Given the description of an element on the screen output the (x, y) to click on. 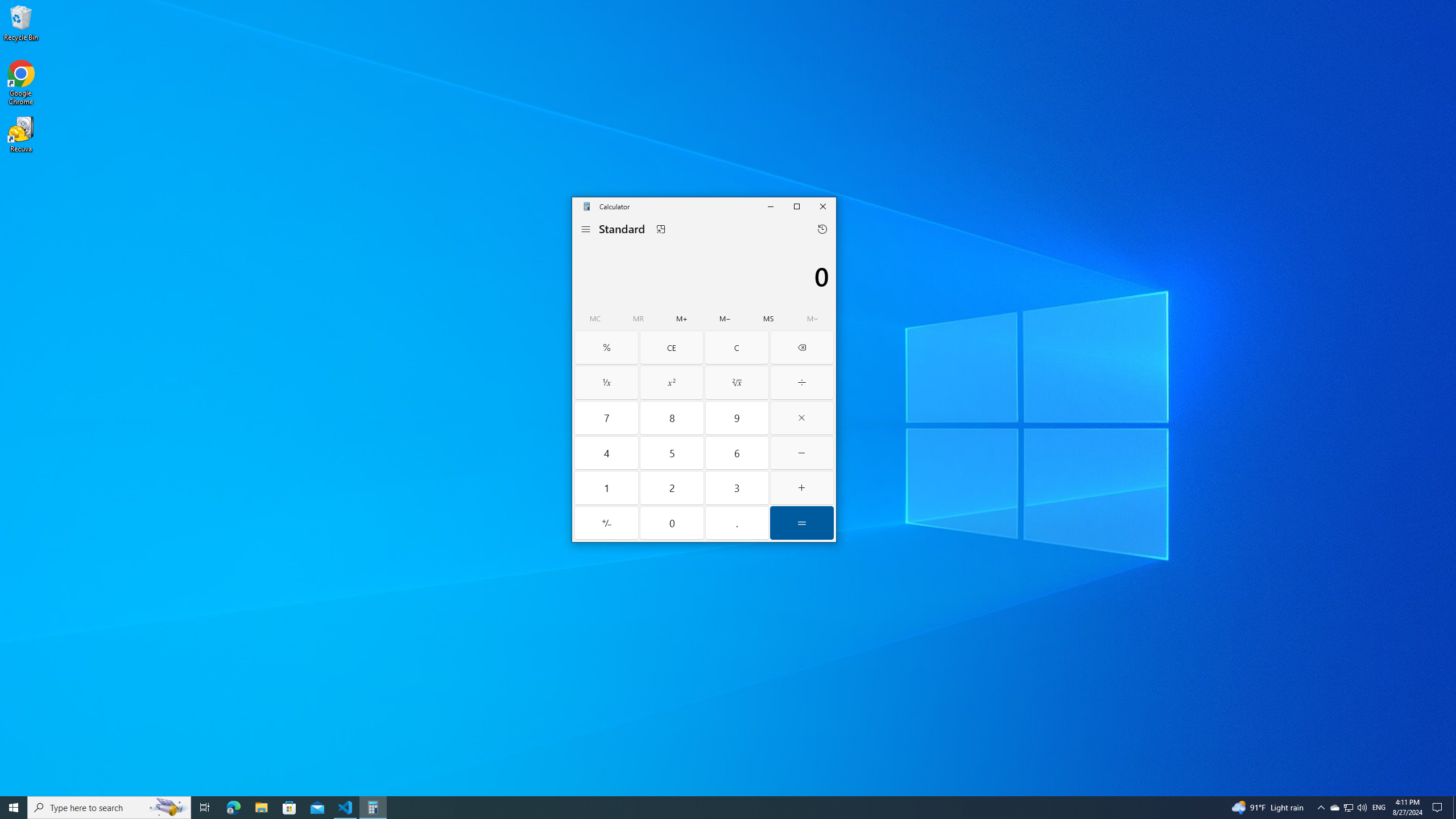
Equals (802, 522)
Three (736, 487)
Five (671, 453)
Divide by (802, 382)
Percent (607, 347)
Minus (802, 453)
Microsoft Edge (233, 807)
Visual Studio Code - 1 running window (345, 807)
Positive negative (607, 522)
Eight (1347, 807)
Memory recall (671, 417)
Nine (638, 318)
